Given the description of an element on the screen output the (x, y) to click on. 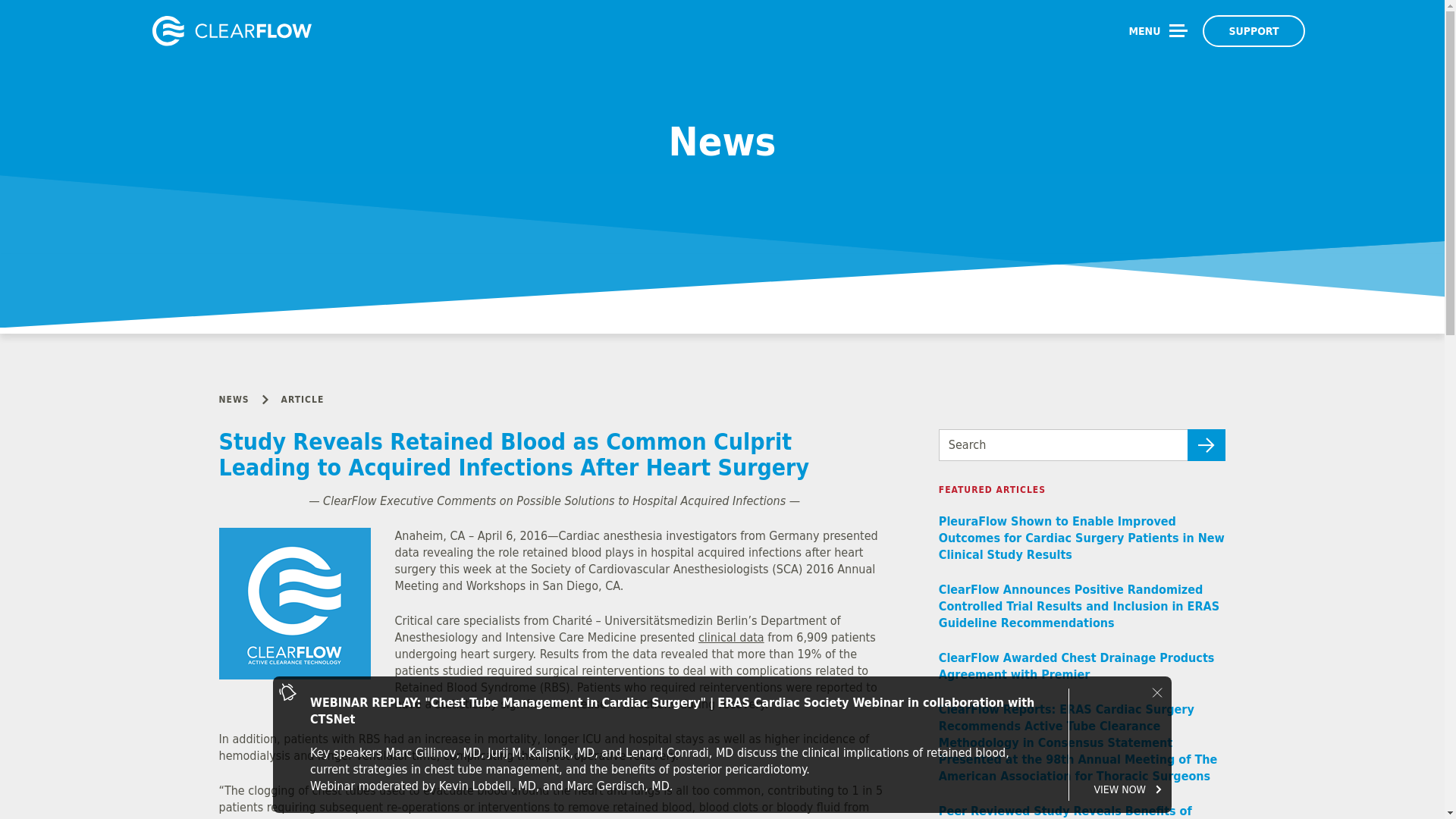
clinical data (731, 636)
MENU (1157, 30)
SUPPORT (1253, 30)
NEWS (233, 399)
